Given the description of an element on the screen output the (x, y) to click on. 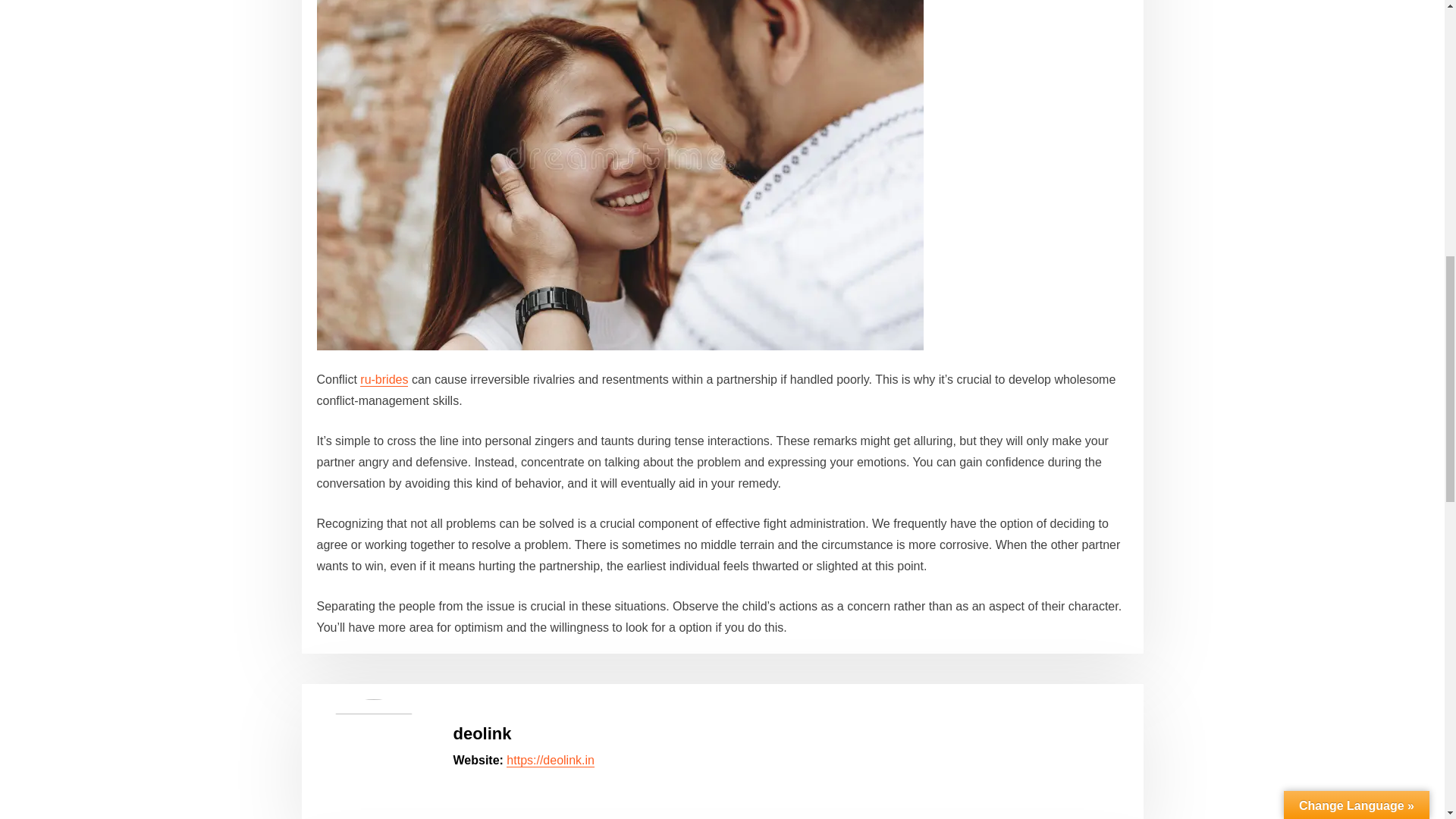
ru-brides (383, 379)
deolink (482, 732)
